Given the description of an element on the screen output the (x, y) to click on. 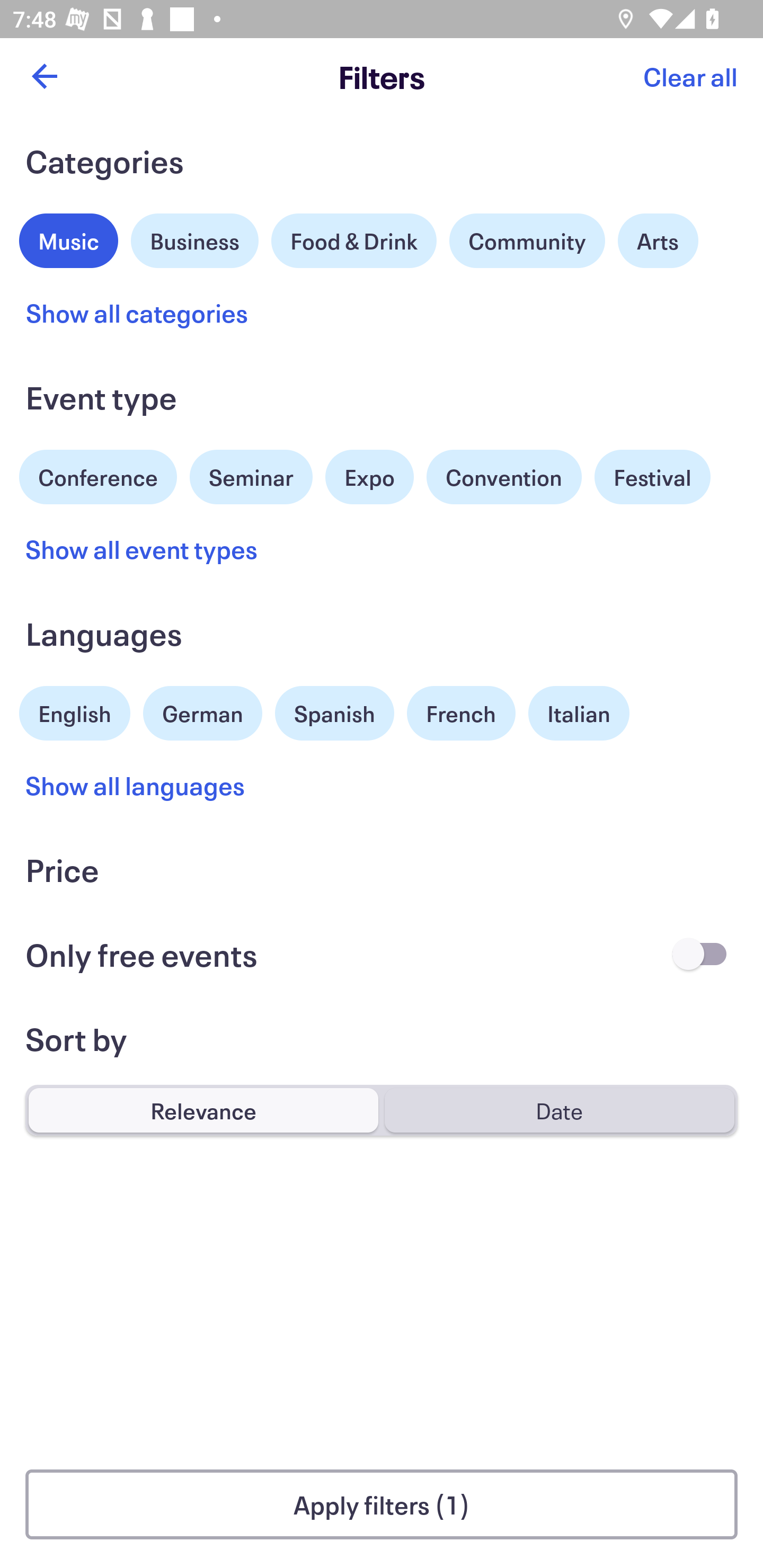
Back button (44, 75)
Clear all (690, 75)
Music (68, 238)
Business (194, 238)
Food & Drink (353, 240)
Community (527, 240)
Arts (658, 240)
Show all categories (136, 312)
Conference (98, 475)
Seminar (250, 477)
Expo (369, 477)
Convention (503, 477)
Festival (652, 477)
Show all event types (141, 548)
English (74, 710)
German (202, 710)
Spanish (334, 713)
French (460, 713)
Italian (578, 713)
Show all languages (135, 784)
Relevance (203, 1109)
Date (559, 1109)
Apply filters (1) (381, 1504)
